Given the description of an element on the screen output the (x, y) to click on. 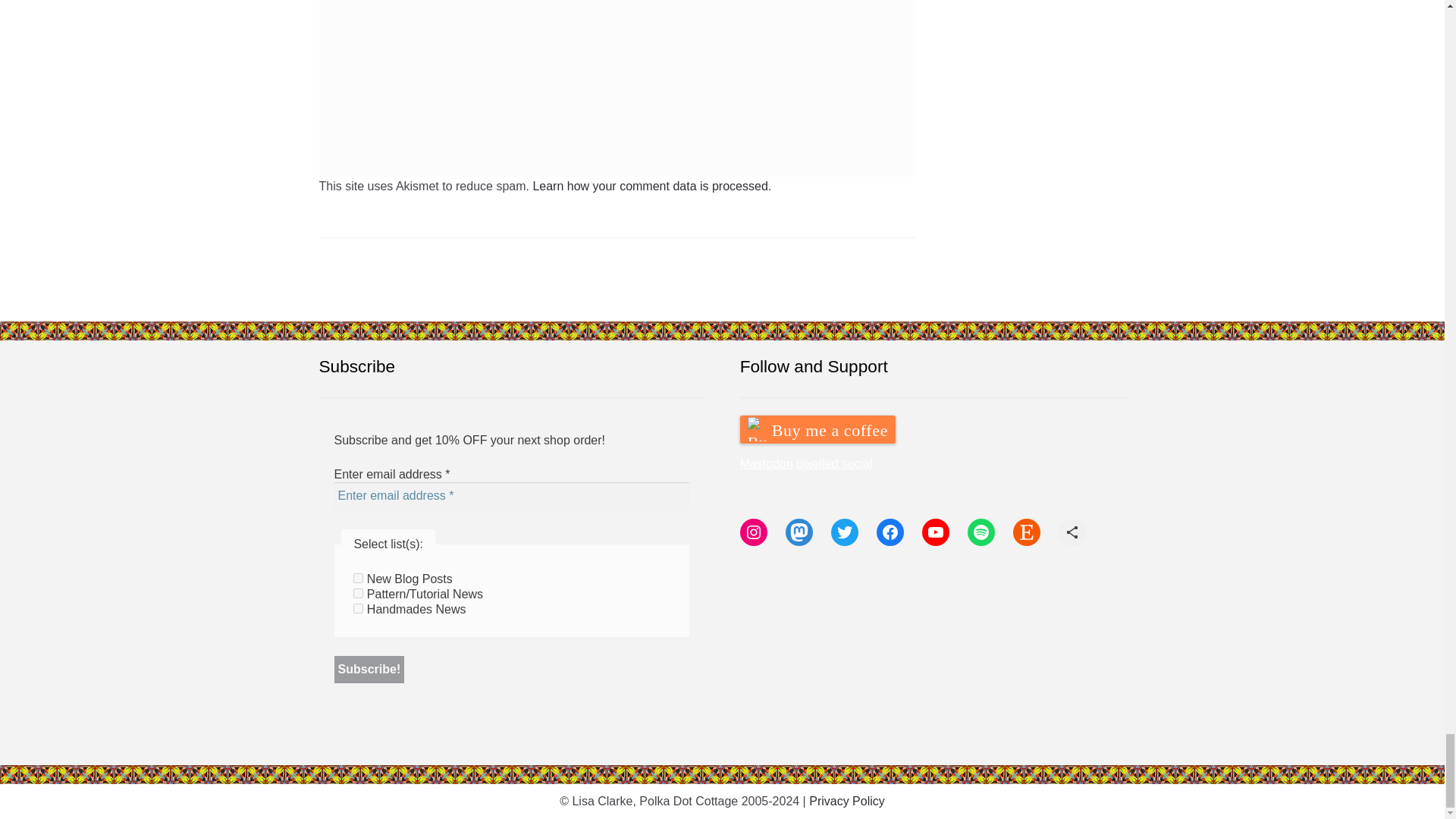
7 (357, 608)
5 (357, 578)
6 (357, 593)
Subscribe! (369, 669)
